Given the description of an element on the screen output the (x, y) to click on. 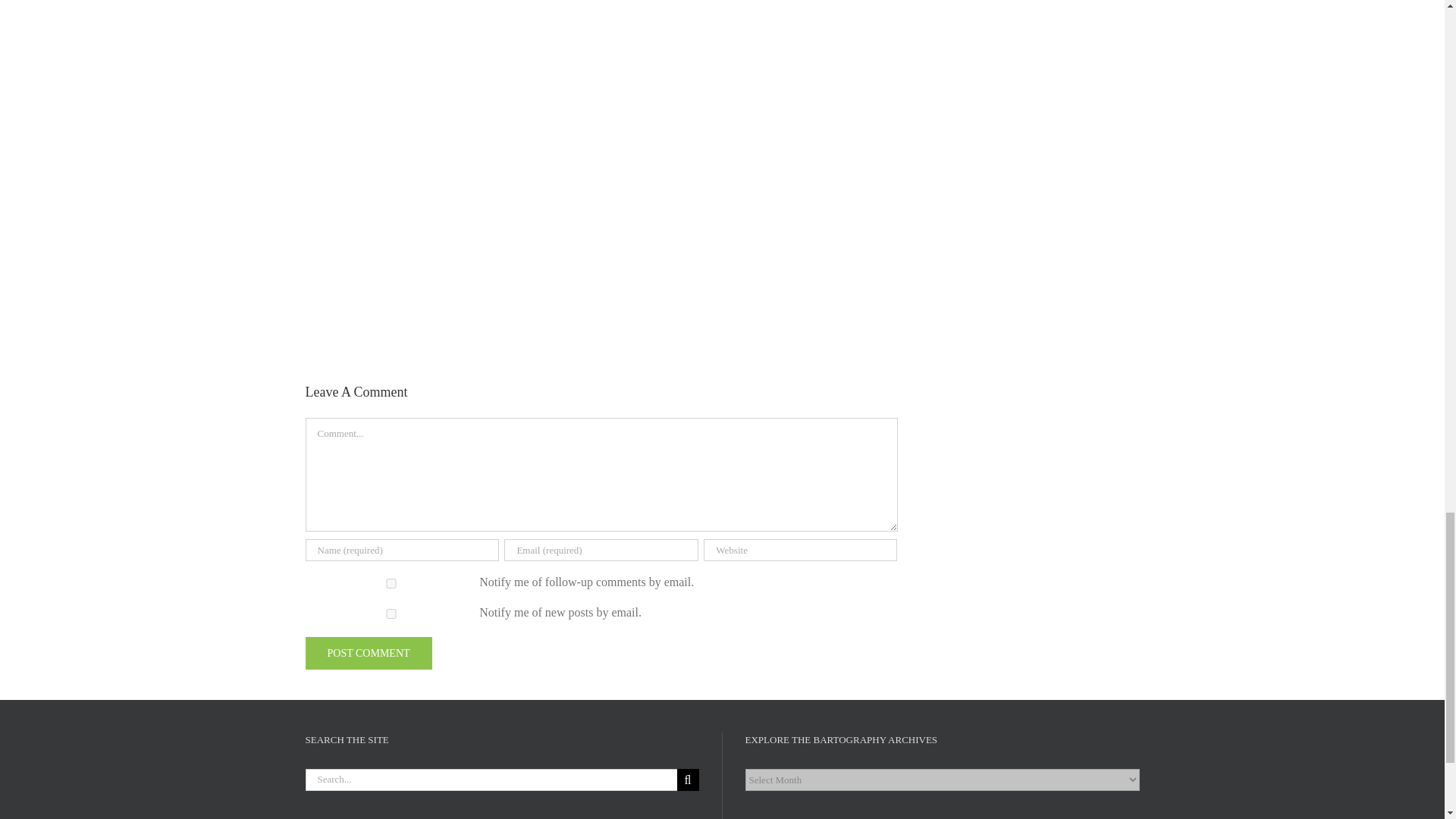
Post Comment (367, 653)
subscribe (390, 614)
subscribe (390, 583)
